Given the description of an element on the screen output the (x, y) to click on. 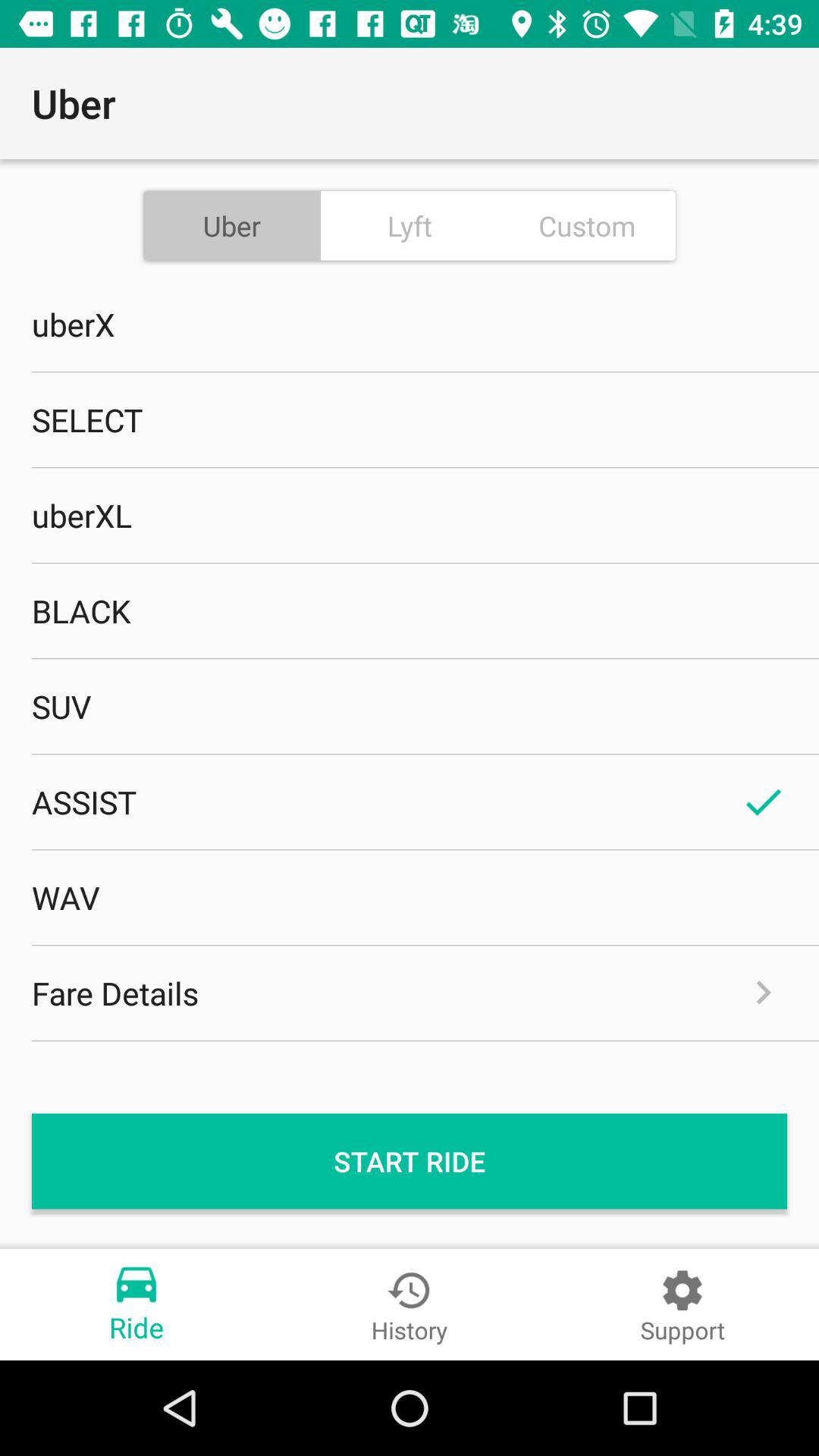
turn off the icon above the assist icon (409, 706)
